Given the description of an element on the screen output the (x, y) to click on. 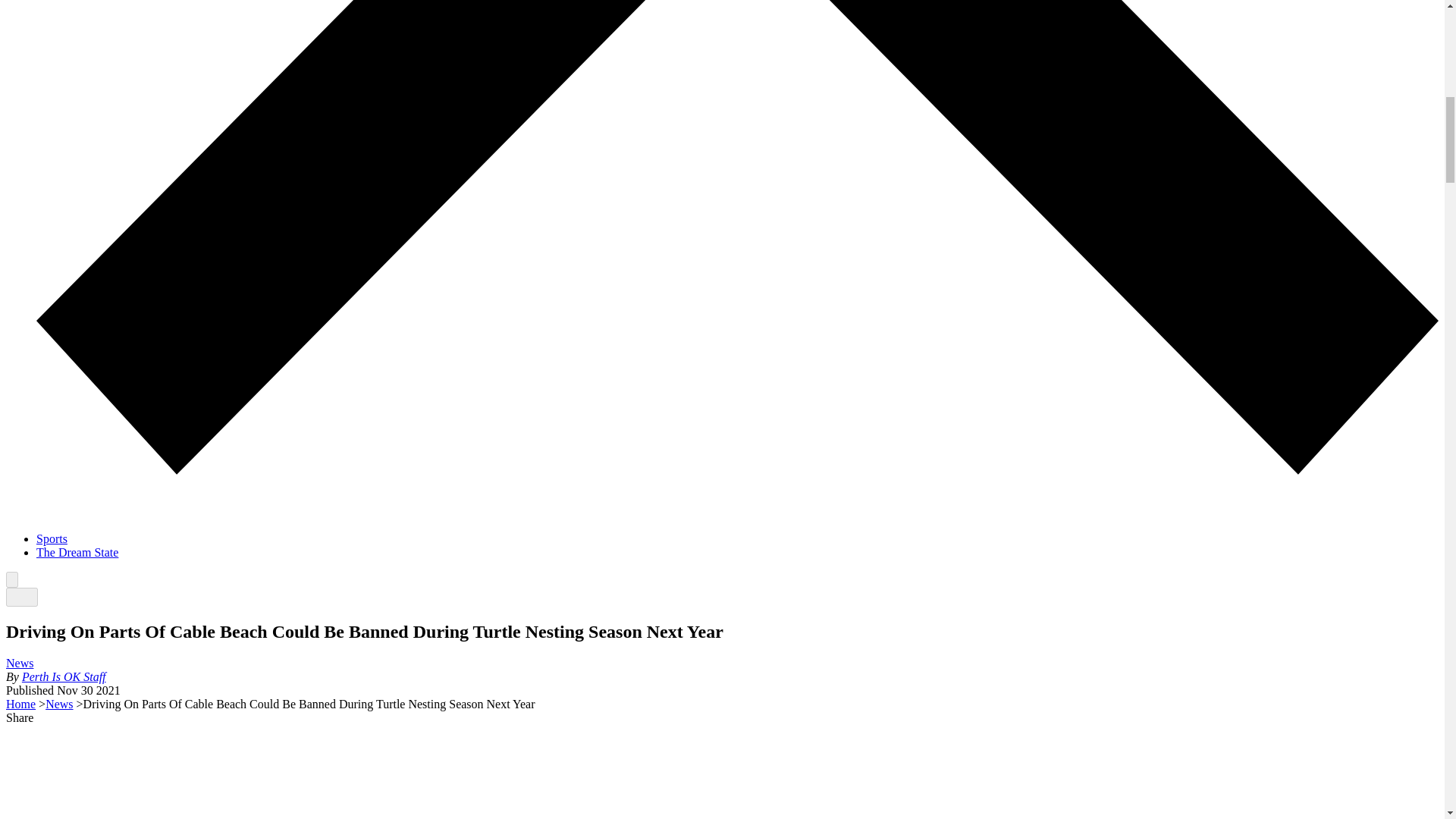
Perth Is OK Staff (63, 676)
Home (19, 703)
News (19, 662)
News (58, 703)
Sports (51, 538)
The Dream State (76, 552)
